Given the description of an element on the screen output the (x, y) to click on. 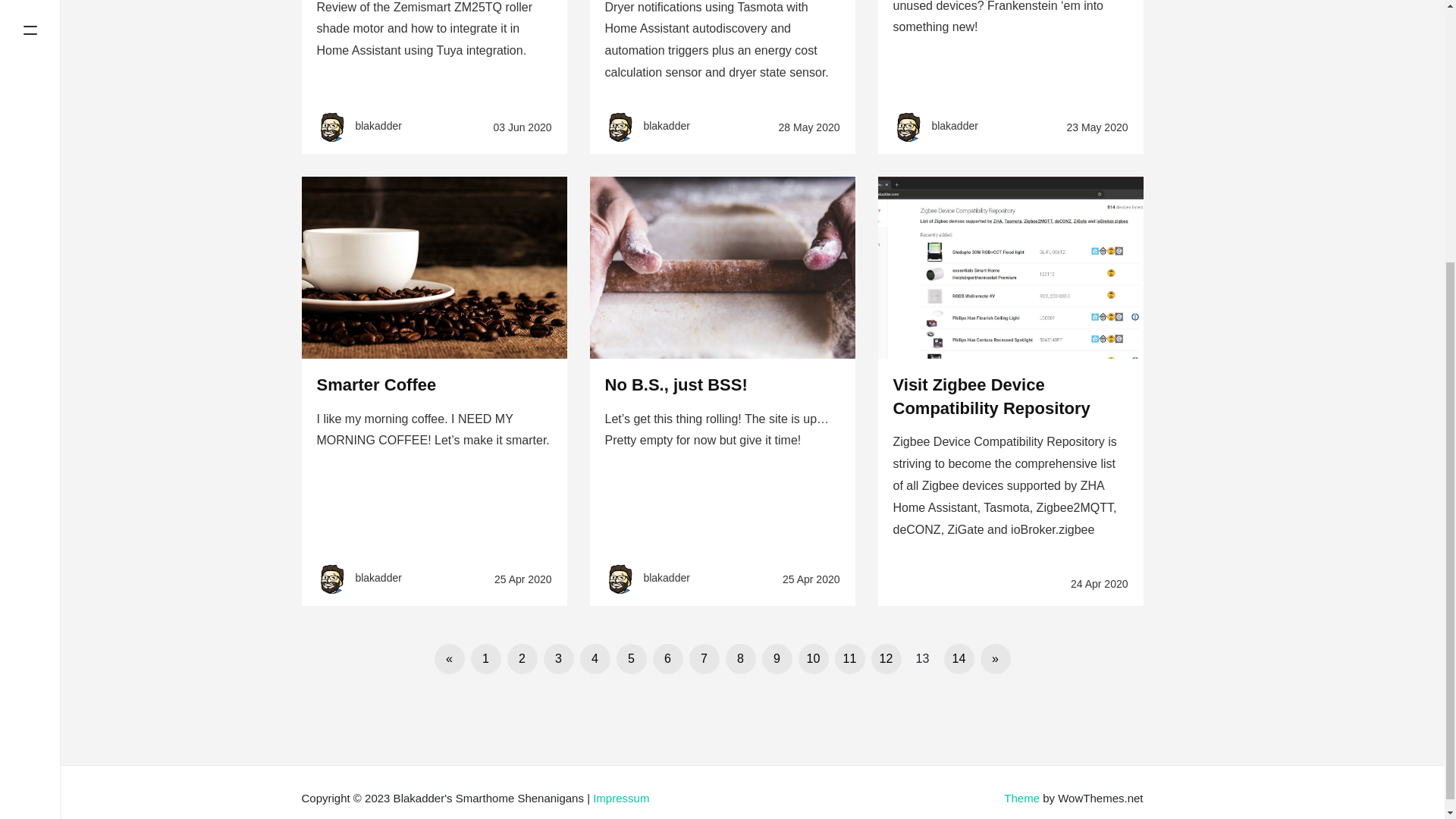
Theme (1021, 797)
Smarter Coffee (376, 384)
1 (485, 658)
Visit Zigbee Device Compatibility Repository (991, 396)
3 (558, 658)
14 (958, 658)
7 (703, 658)
10 (812, 658)
6 (667, 658)
5 (630, 658)
